Given the description of an element on the screen output the (x, y) to click on. 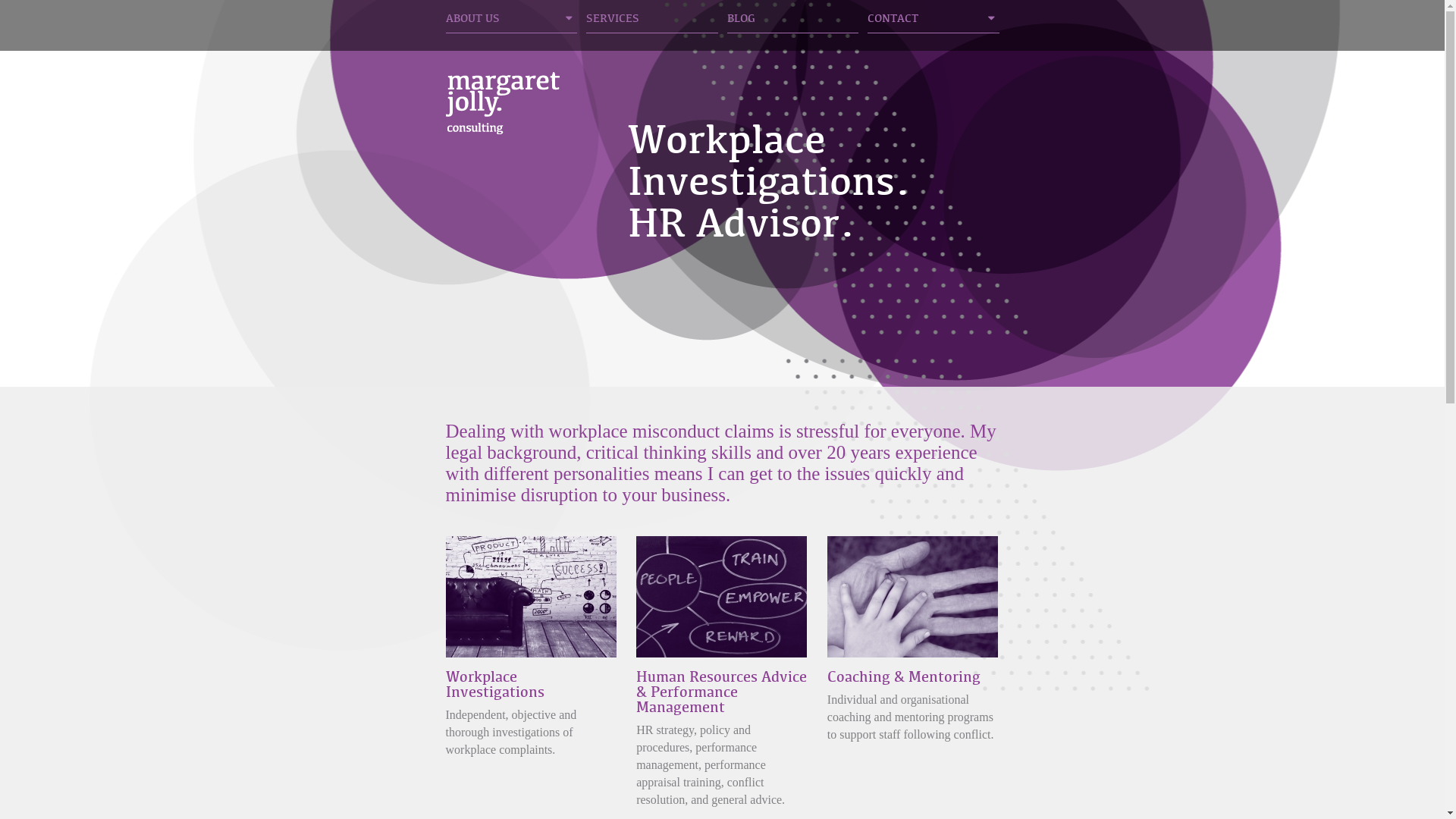
CONTACT Element type: text (933, 22)
ABOUT US Element type: text (511, 22)
SERVICES Element type: text (652, 22)
BLOG Element type: text (792, 22)
